Given the description of an element on the screen output the (x, y) to click on. 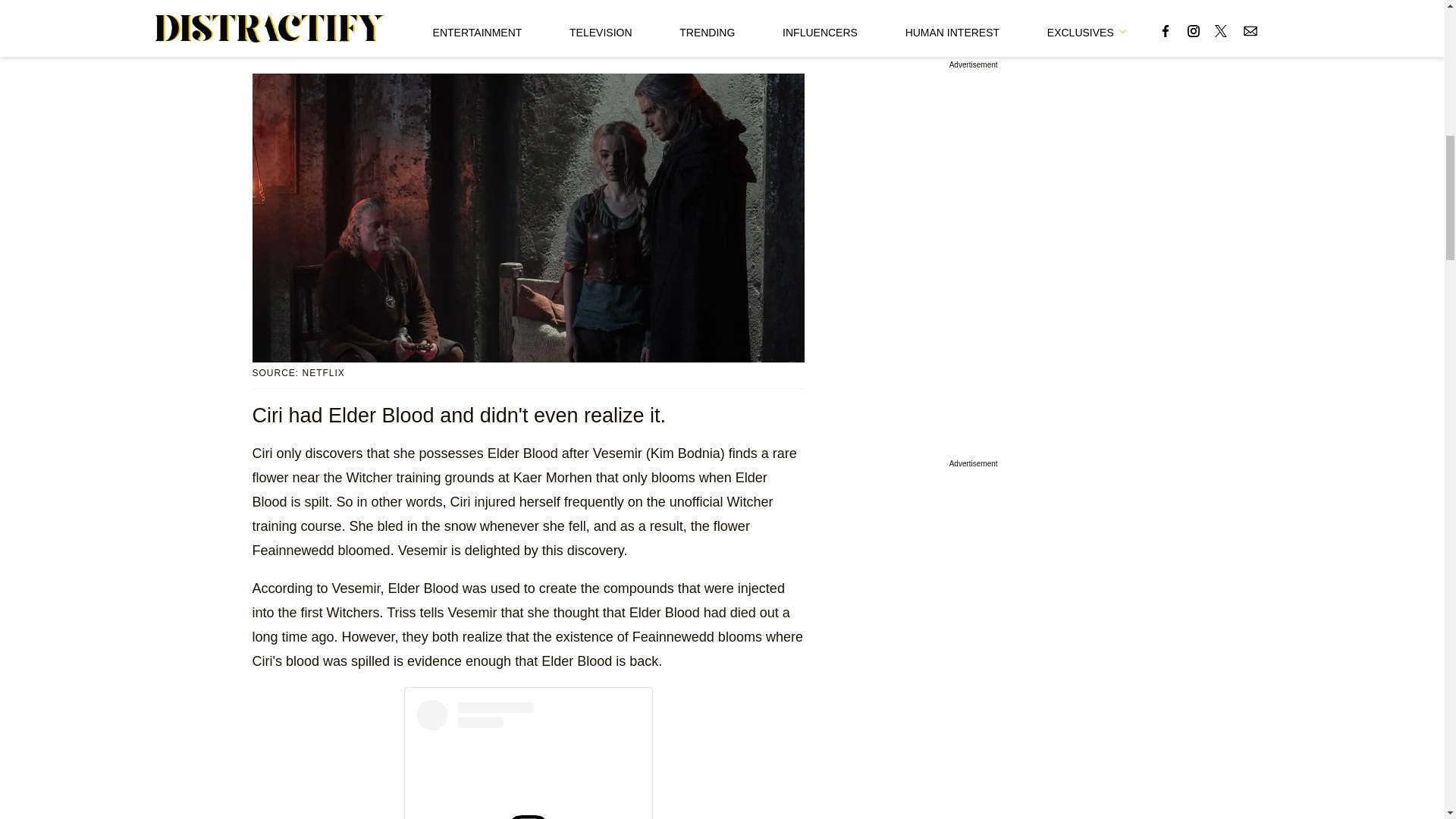
View this post on Instagram (528, 759)
